Given the description of an element on the screen output the (x, y) to click on. 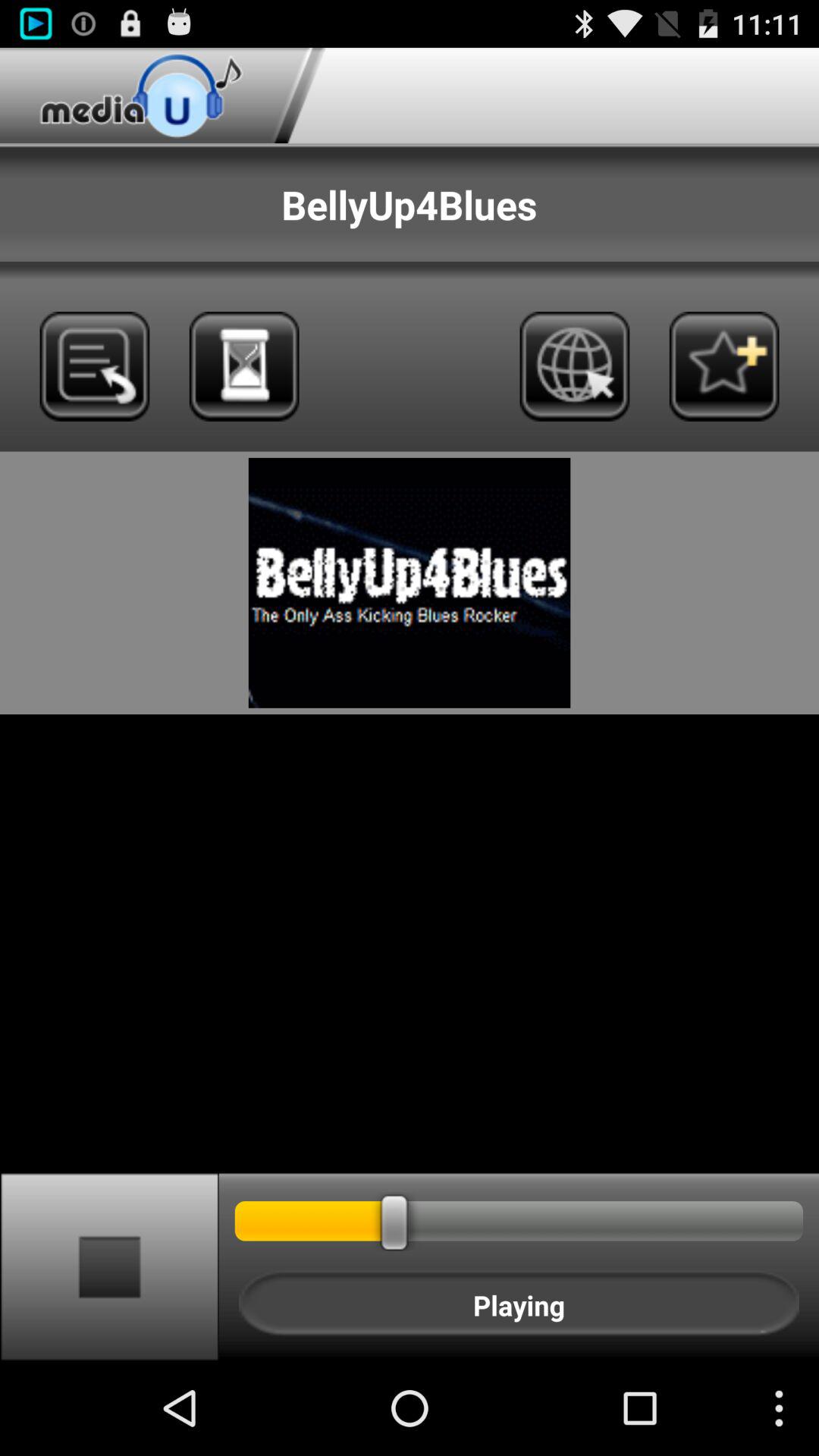
toggle the stop function (109, 1266)
